Given the description of an element on the screen output the (x, y) to click on. 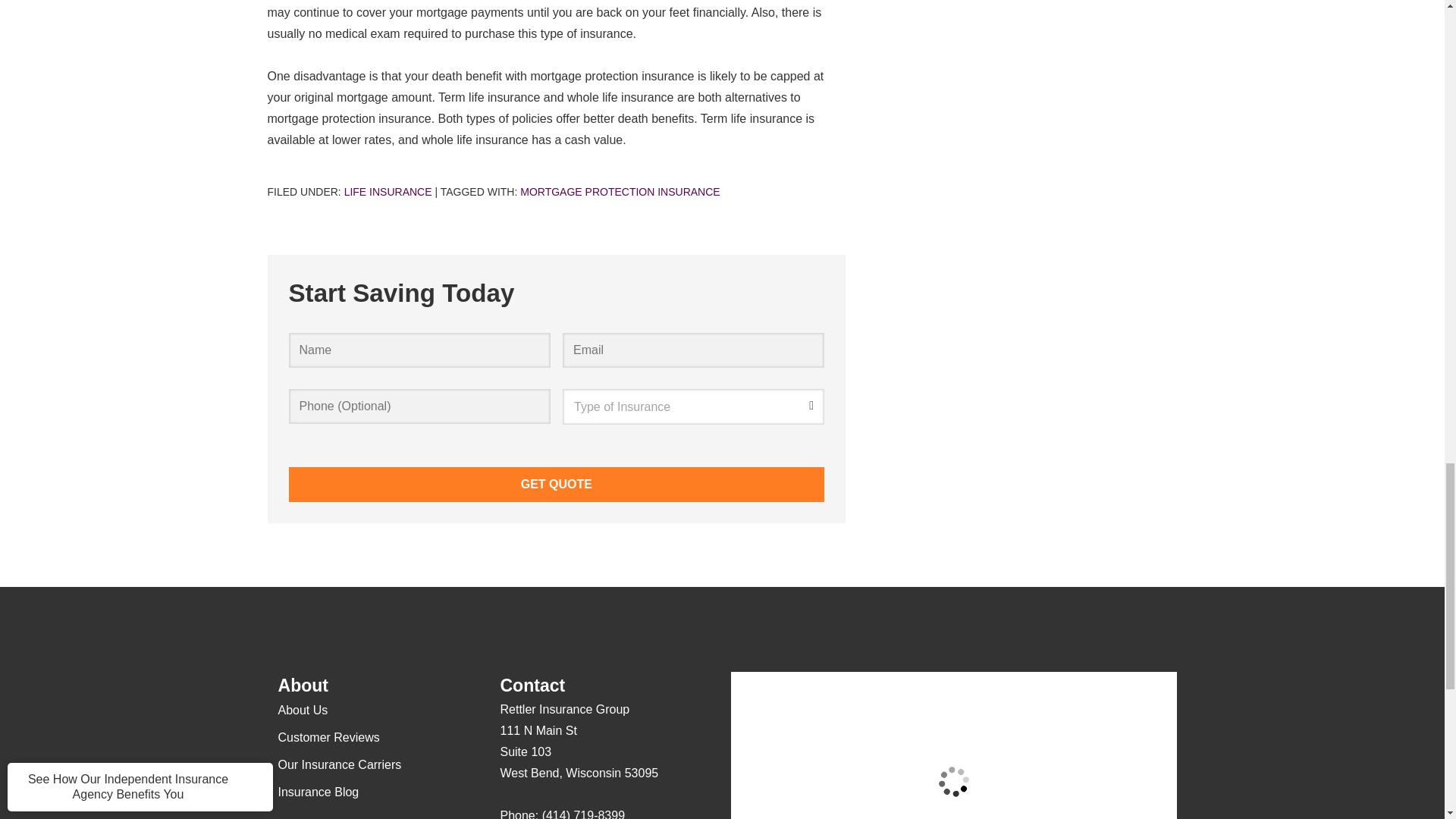
Life Insurance (387, 191)
Mortgage Protection Insurance (619, 191)
Get Quote (556, 484)
